Given the description of an element on the screen output the (x, y) to click on. 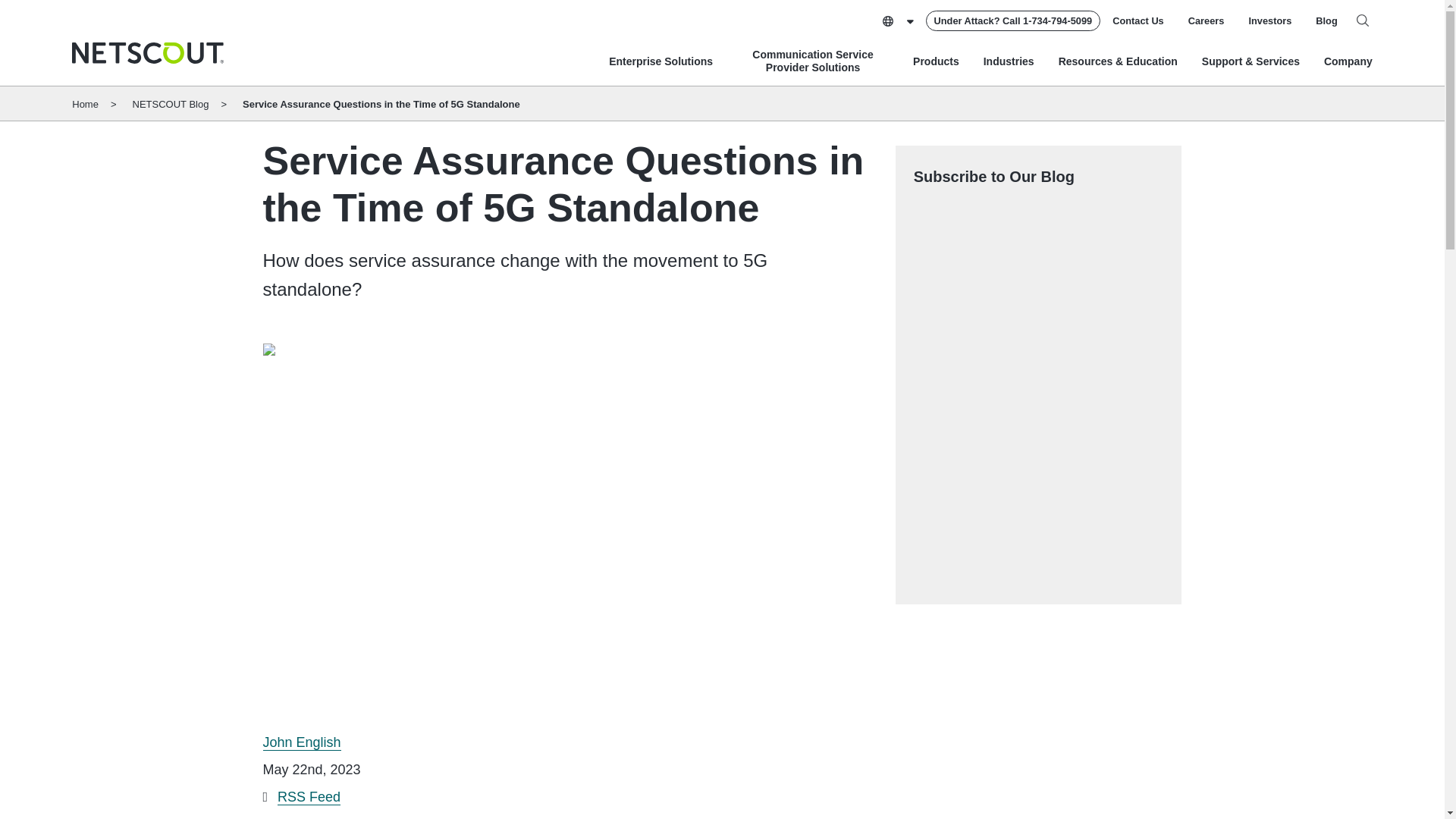
Home (147, 52)
Blog (1326, 20)
Search (1362, 20)
Search (1362, 20)
Under Attack? Call 1-734-794-5099 (1013, 20)
Contact Us (1138, 20)
Investors (1269, 20)
Careers (1206, 20)
